Given the description of an element on the screen output the (x, y) to click on. 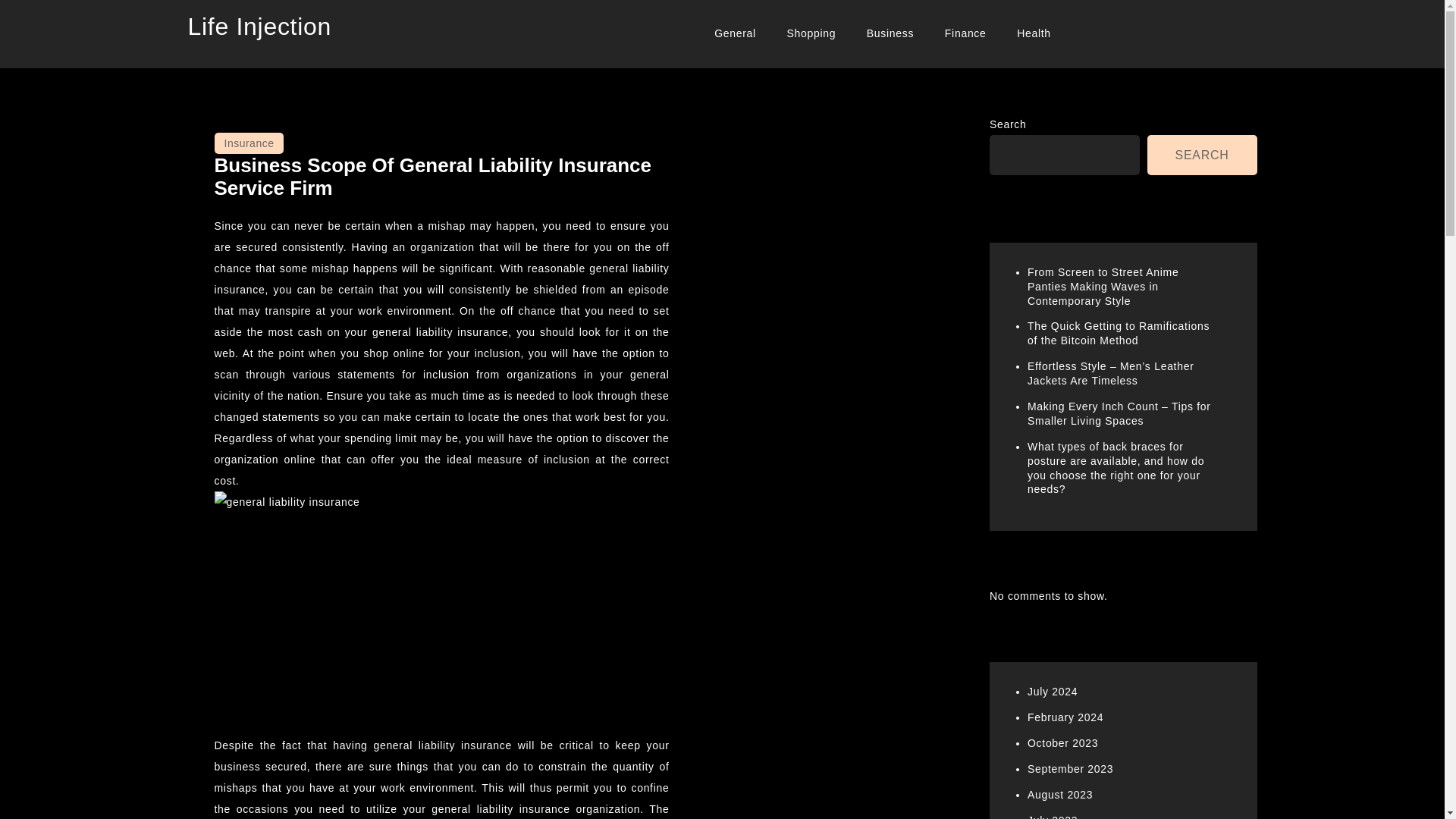
General (735, 33)
Business Scope Of General Liability Insurance Service Firm (432, 176)
February 2024 (1065, 717)
September 2023 (1070, 768)
Finance (965, 33)
Health (1033, 33)
Insurance (248, 142)
SEARCH (1202, 155)
August 2023 (1060, 794)
